Given the description of an element on the screen output the (x, y) to click on. 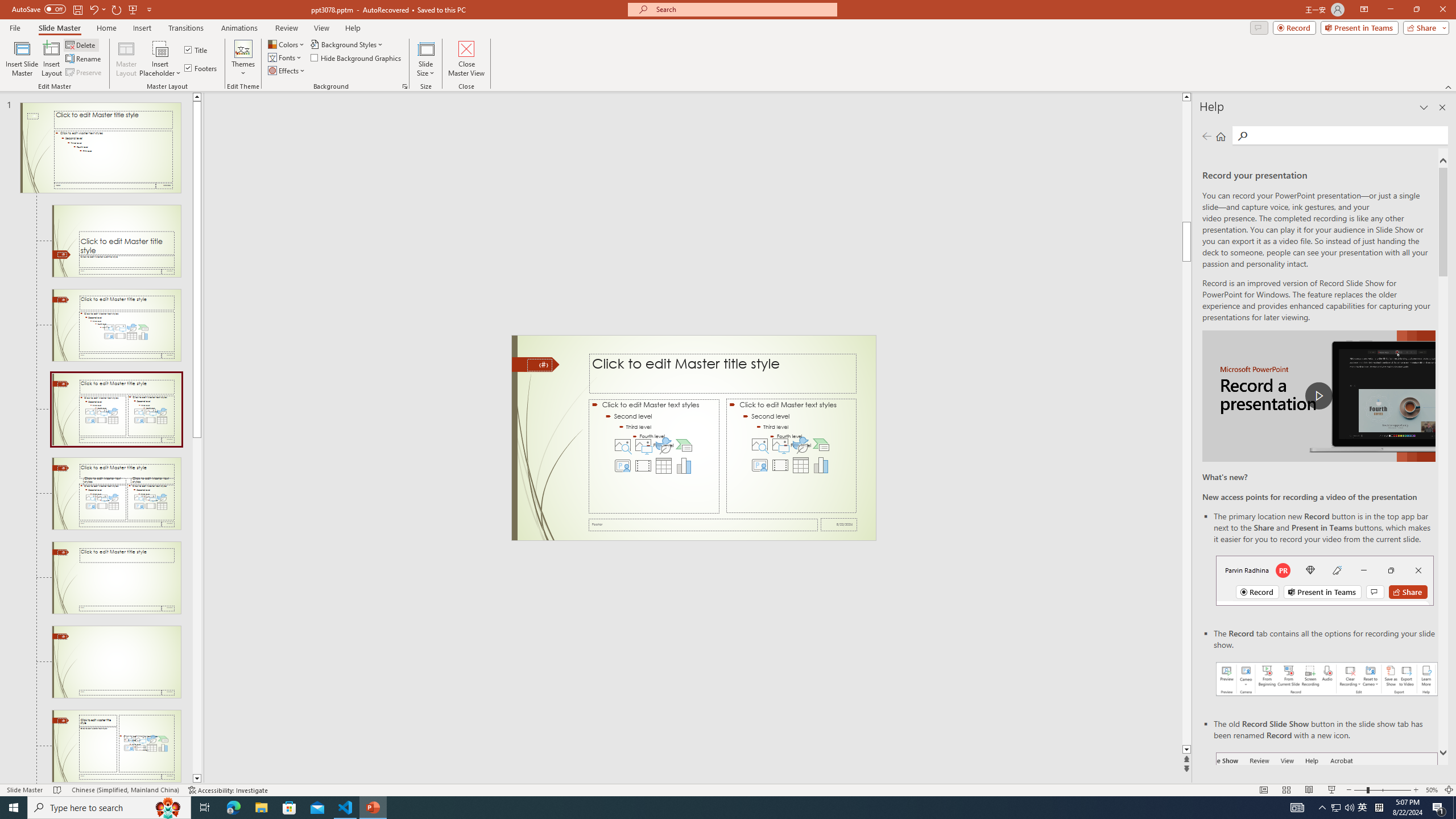
Footer (703, 524)
Insert Placeholder (160, 58)
Close Master View (466, 58)
Content Placeholder (791, 455)
Insert Layout (51, 58)
Colors (287, 44)
Slide Wisp Slide Master: used by slide(s) 1 (100, 147)
